Given the description of an element on the screen output the (x, y) to click on. 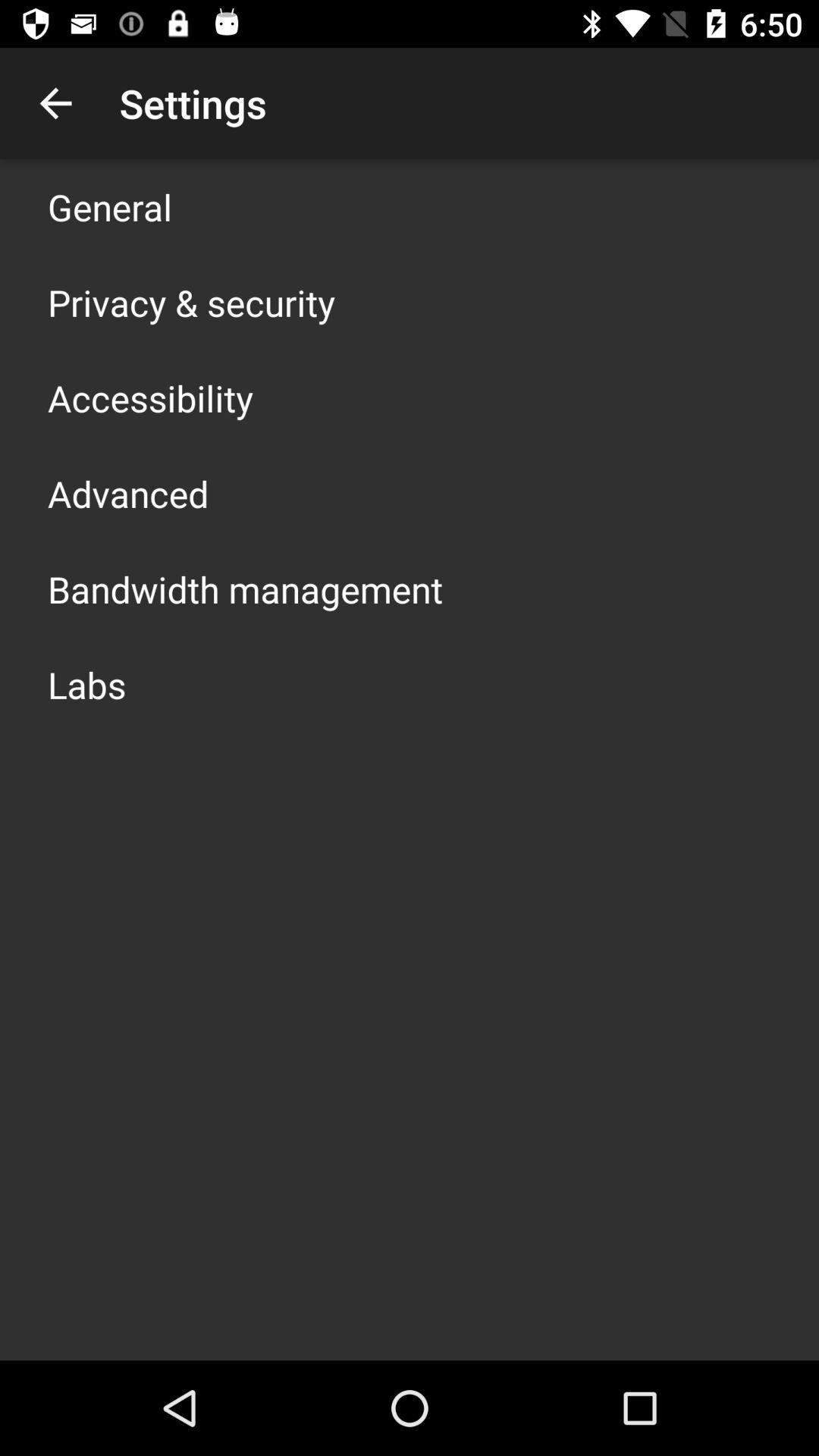
turn on the app below the general item (190, 302)
